Given the description of an element on the screen output the (x, y) to click on. 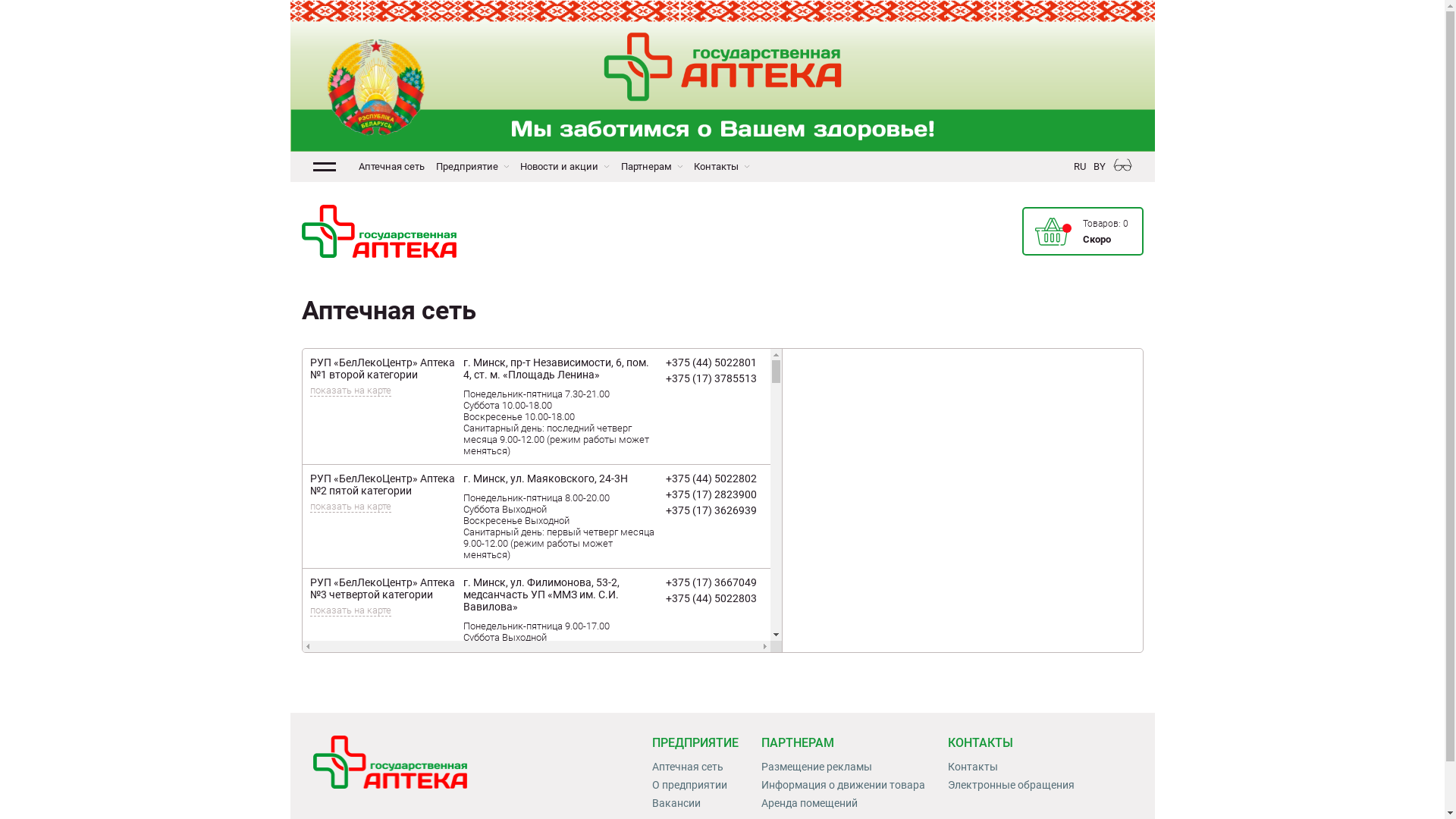
+375 (17) 3667049 Element type: text (710, 582)
+375 (17) 3626939 Element type: text (710, 510)
RU Element type: text (1079, 166)
BY Element type: text (1099, 166)
+375 (17) 3785513 Element type: text (710, 378)
+375 (44) 5022803 Element type: text (710, 598)
+375 (44) 5022804 Element type: text (710, 710)
+375 (44) 5022802 Element type: text (710, 478)
+375 (17) 2823900 Element type: text (710, 494)
+375 (44) 5022801 Element type: text (710, 362)
+375 (17) 3285592 Element type: text (710, 726)
